Given the description of an element on the screen output the (x, y) to click on. 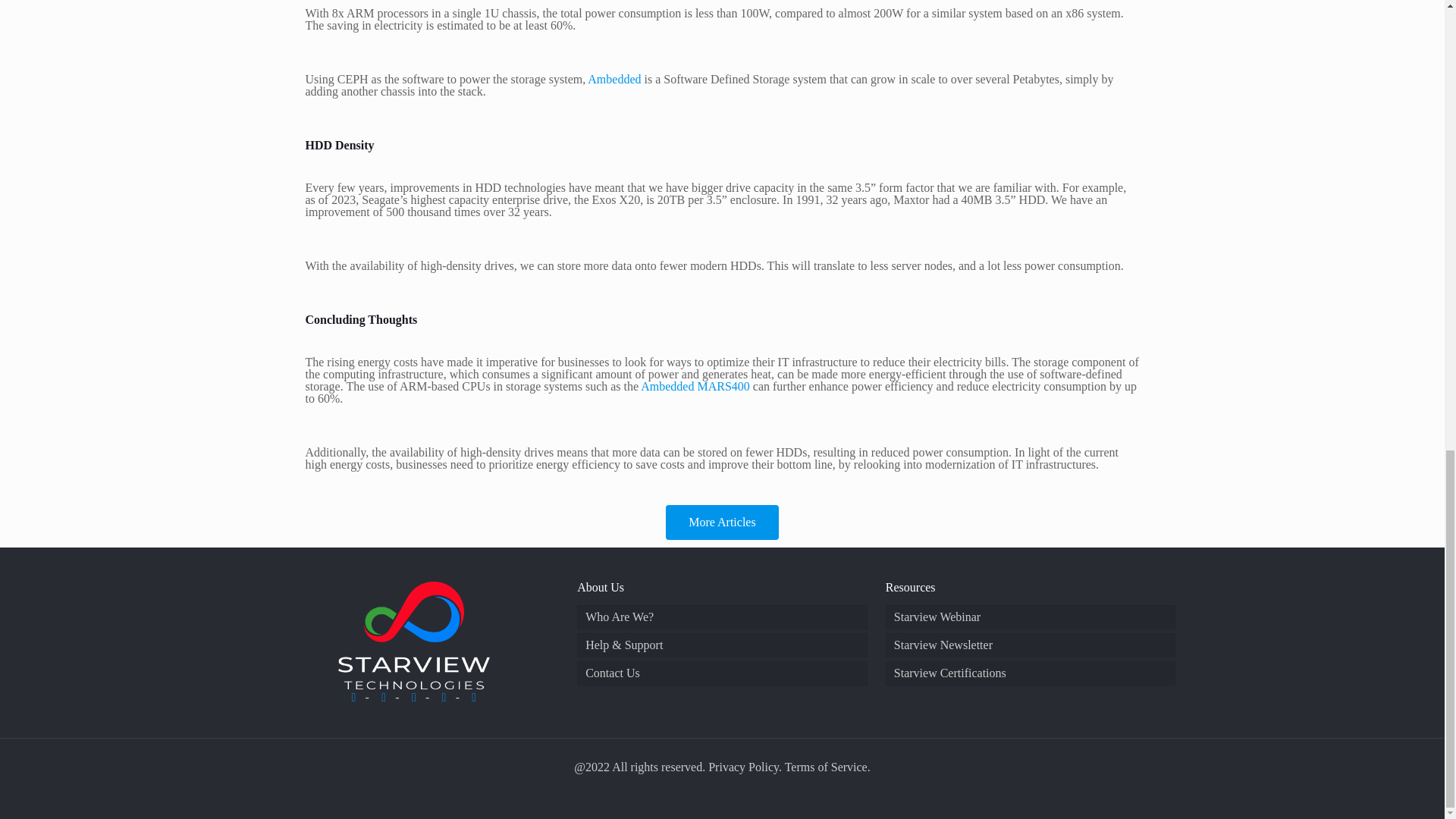
Pinterest (443, 697)
Twitter (473, 697)
LinkedIn (383, 697)
YouTube (414, 697)
Facebook Meta (353, 697)
